Given the description of an element on the screen output the (x, y) to click on. 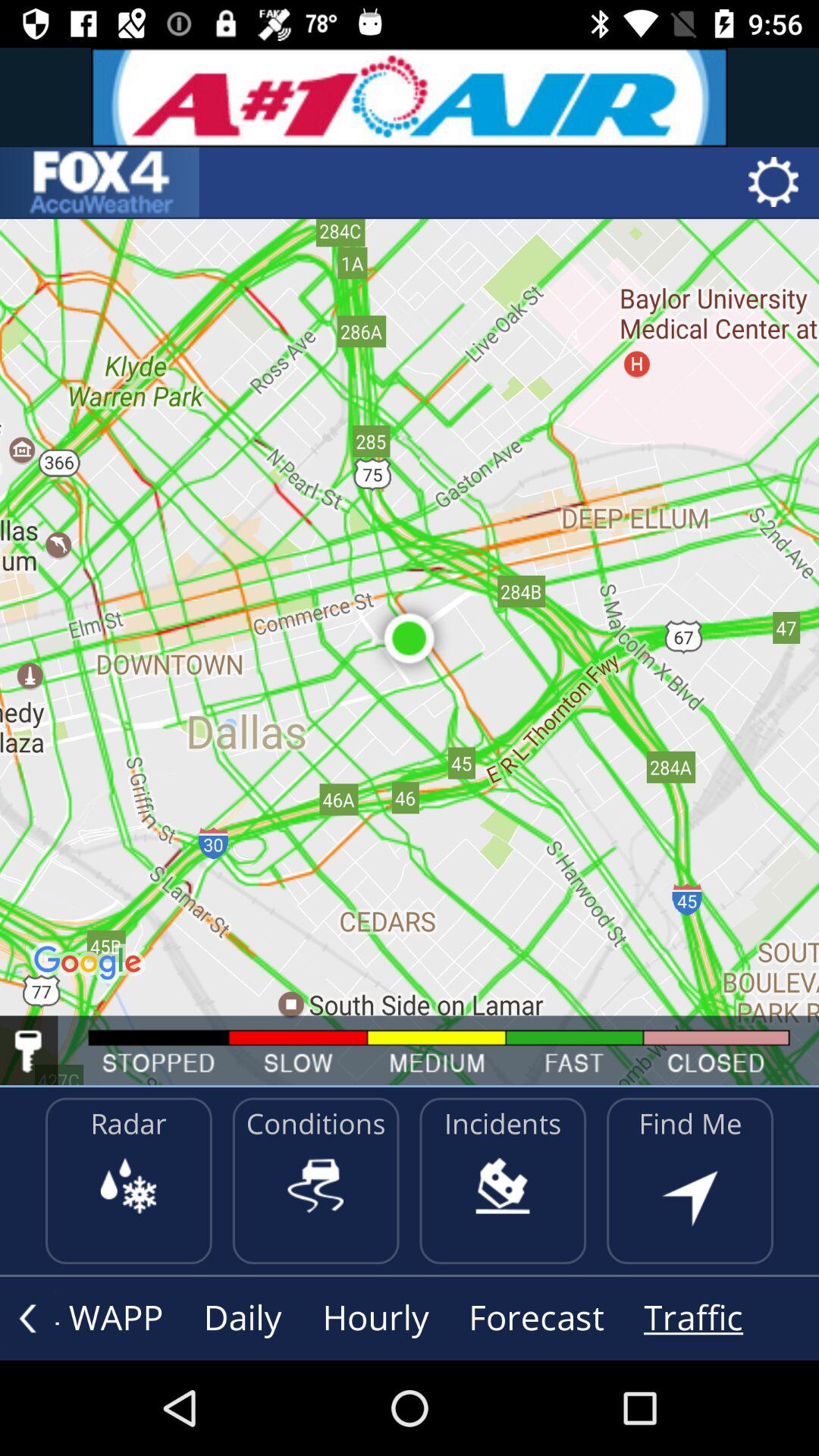
an advertisement (409, 97)
